Given the description of an element on the screen output the (x, y) to click on. 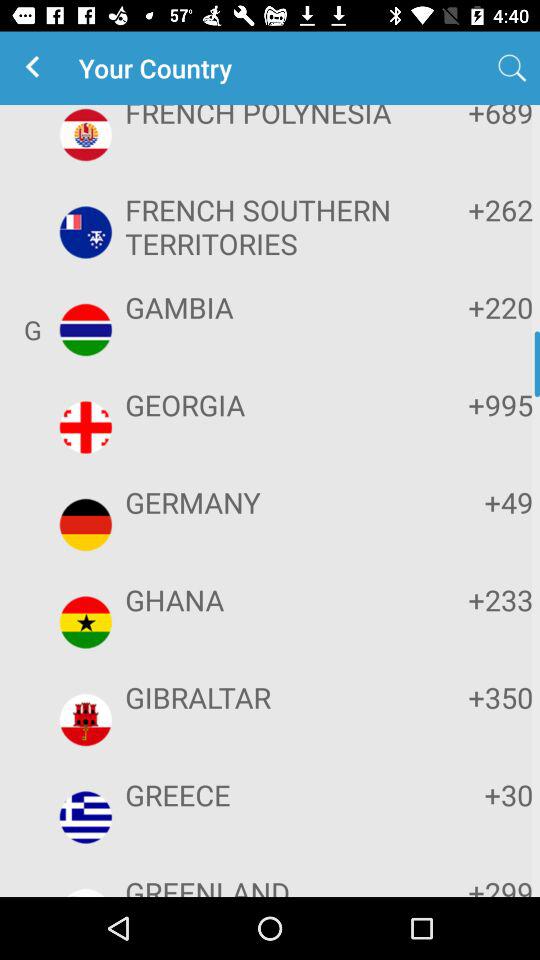
launch +350 (471, 697)
